Given the description of an element on the screen output the (x, y) to click on. 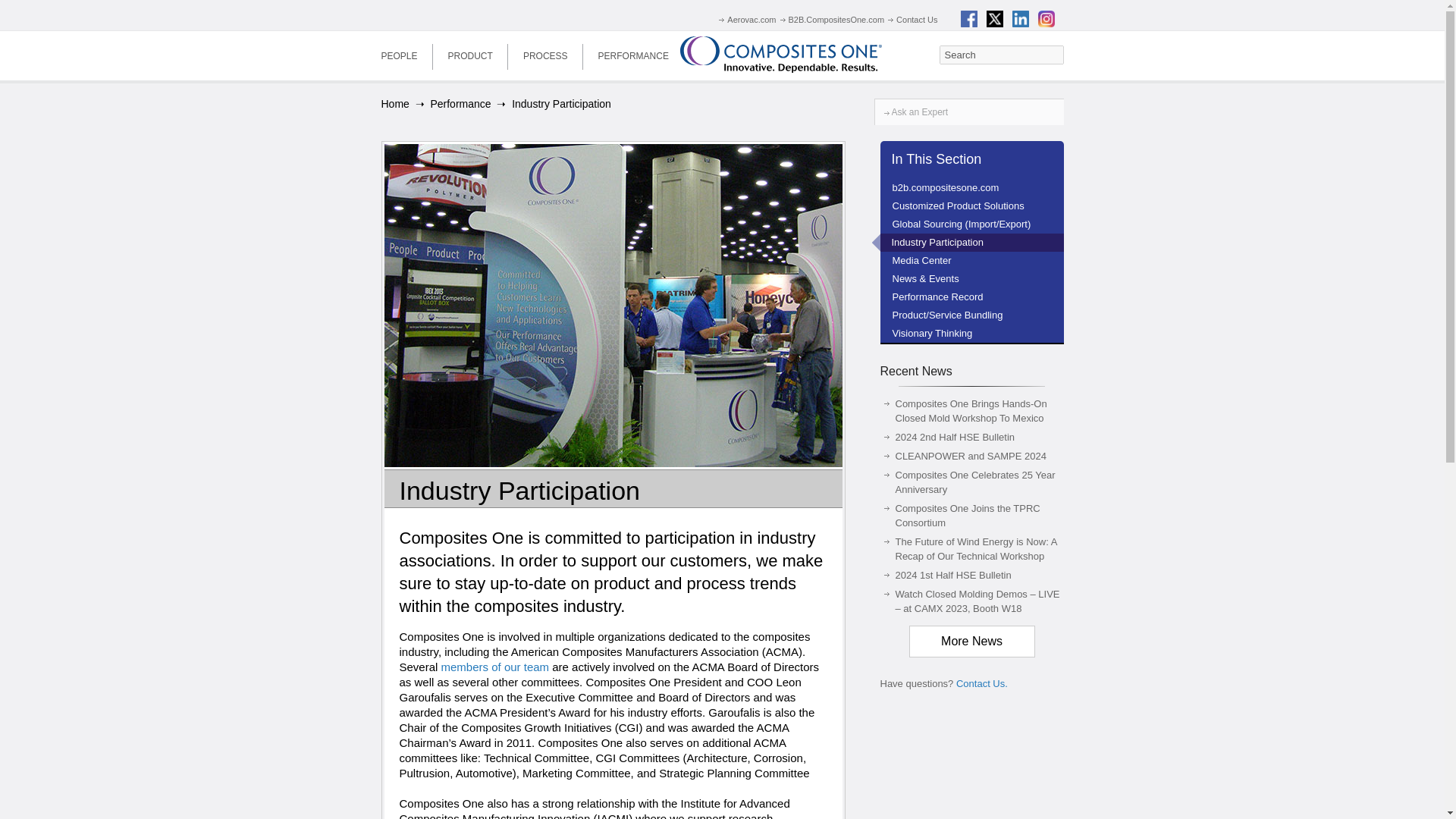
Composites One (780, 54)
Go to Performance. (459, 103)
Search (1000, 54)
Go to Composites One. (394, 103)
B2B.CompositesOne.com (830, 19)
Contact Us (910, 19)
Aerovac.com (745, 19)
PEOPLE (398, 55)
PRODUCT (470, 55)
PROCESS (545, 55)
